Given the description of an element on the screen output the (x, y) to click on. 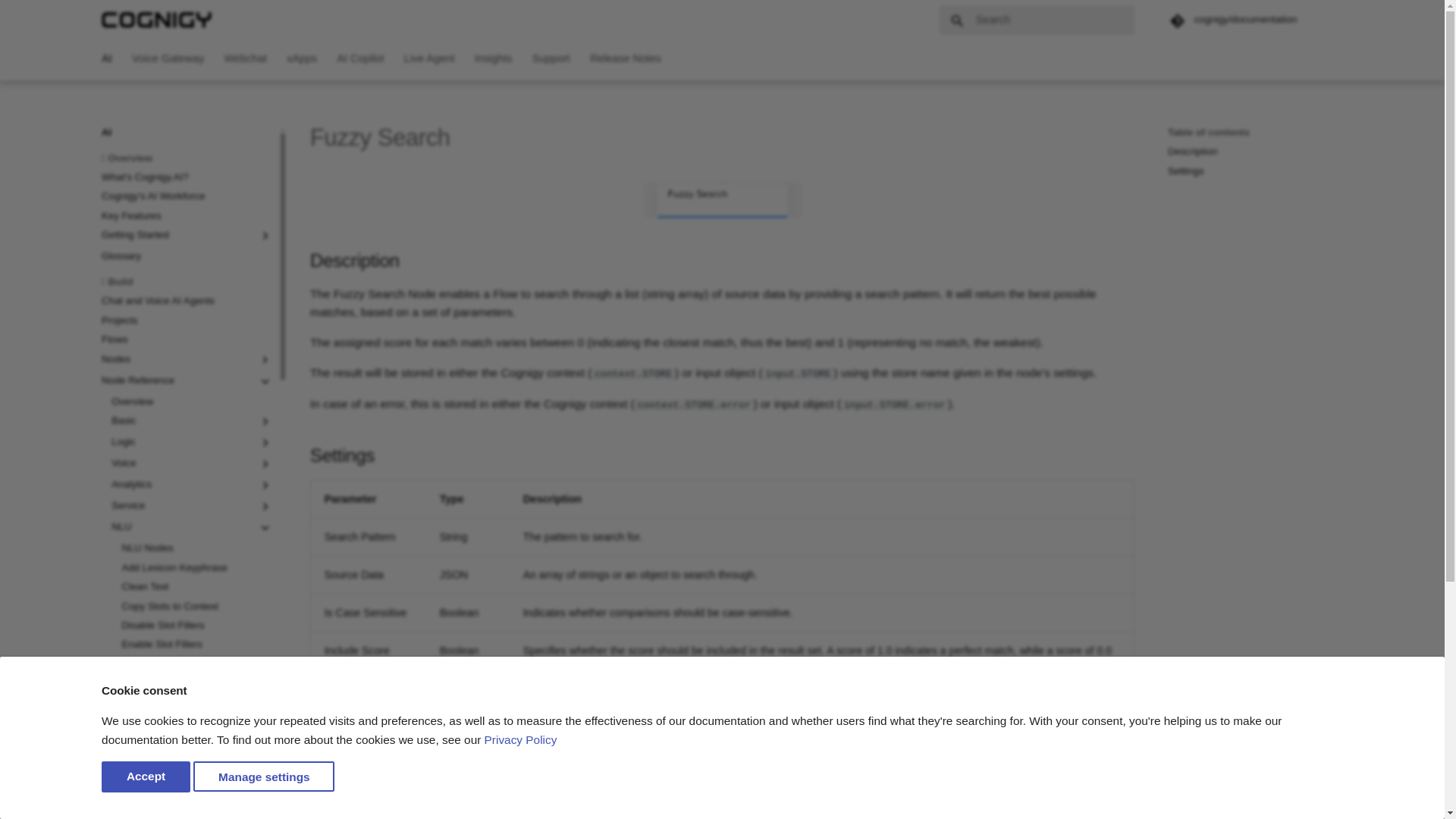
AI Copilot (360, 58)
Flows (186, 338)
What's Cognigy.AI? (186, 176)
Cognigy's AI Workforce (186, 195)
xApps (301, 58)
Chat and Voice AI Agents (186, 300)
Release Notes (1254, 462)
Live Agent (625, 58)
AI (429, 58)
Support (186, 132)
Voice Gateway (551, 58)
AI (167, 58)
Webchat (106, 58)
Go to repository (245, 58)
